Given the description of an element on the screen output the (x, y) to click on. 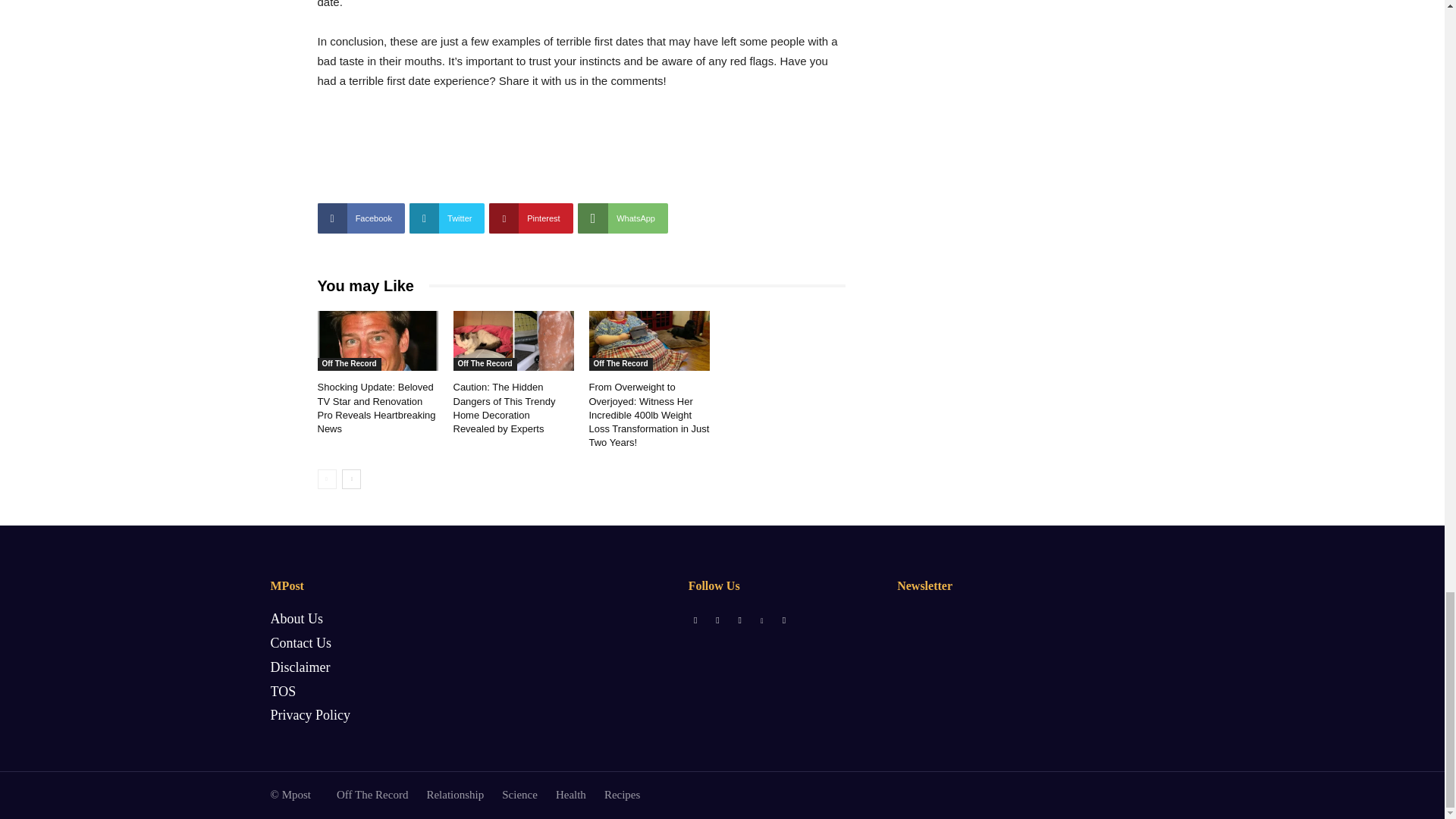
Twitter (446, 218)
Facebook (360, 218)
